Given the description of an element on the screen output the (x, y) to click on. 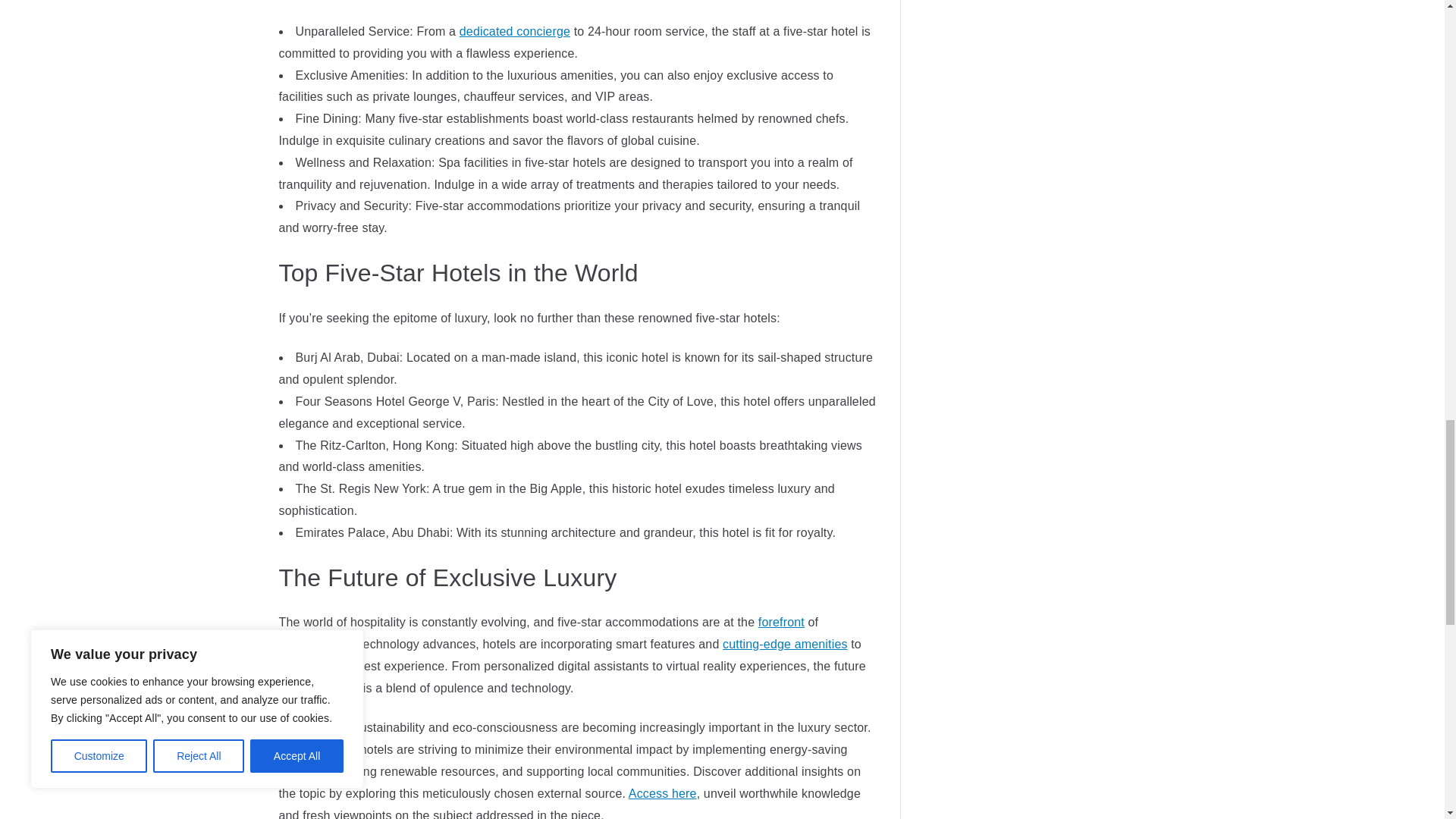
forefront (781, 621)
cutting-edge amenities (784, 644)
Access here (662, 793)
dedicated concierge (515, 31)
